Given the description of an element on the screen output the (x, y) to click on. 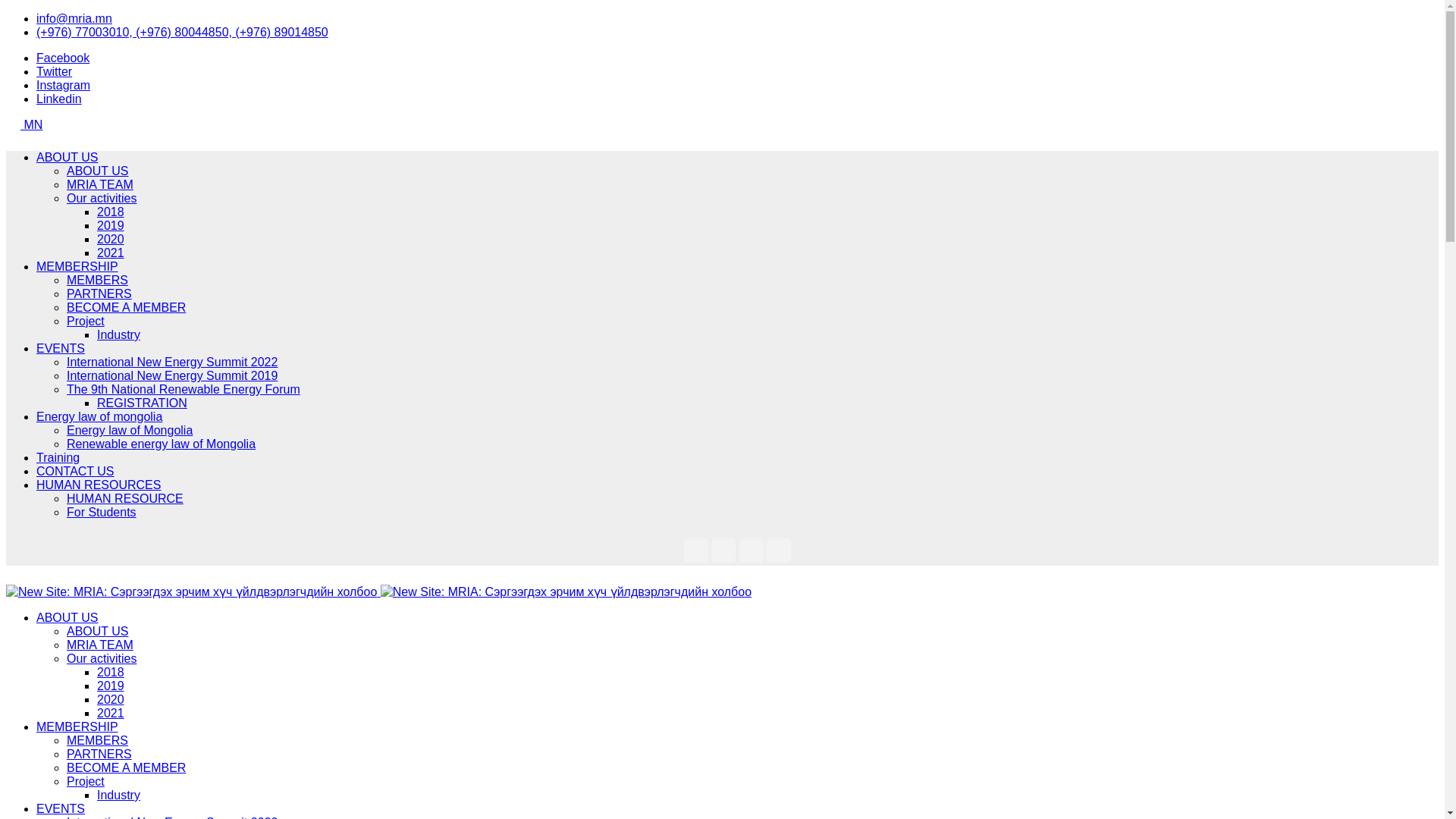
Facebook (62, 57)
Twitter (53, 71)
Linkedin (58, 98)
MN (25, 124)
Instagram (63, 84)
